Given the description of an element on the screen output the (x, y) to click on. 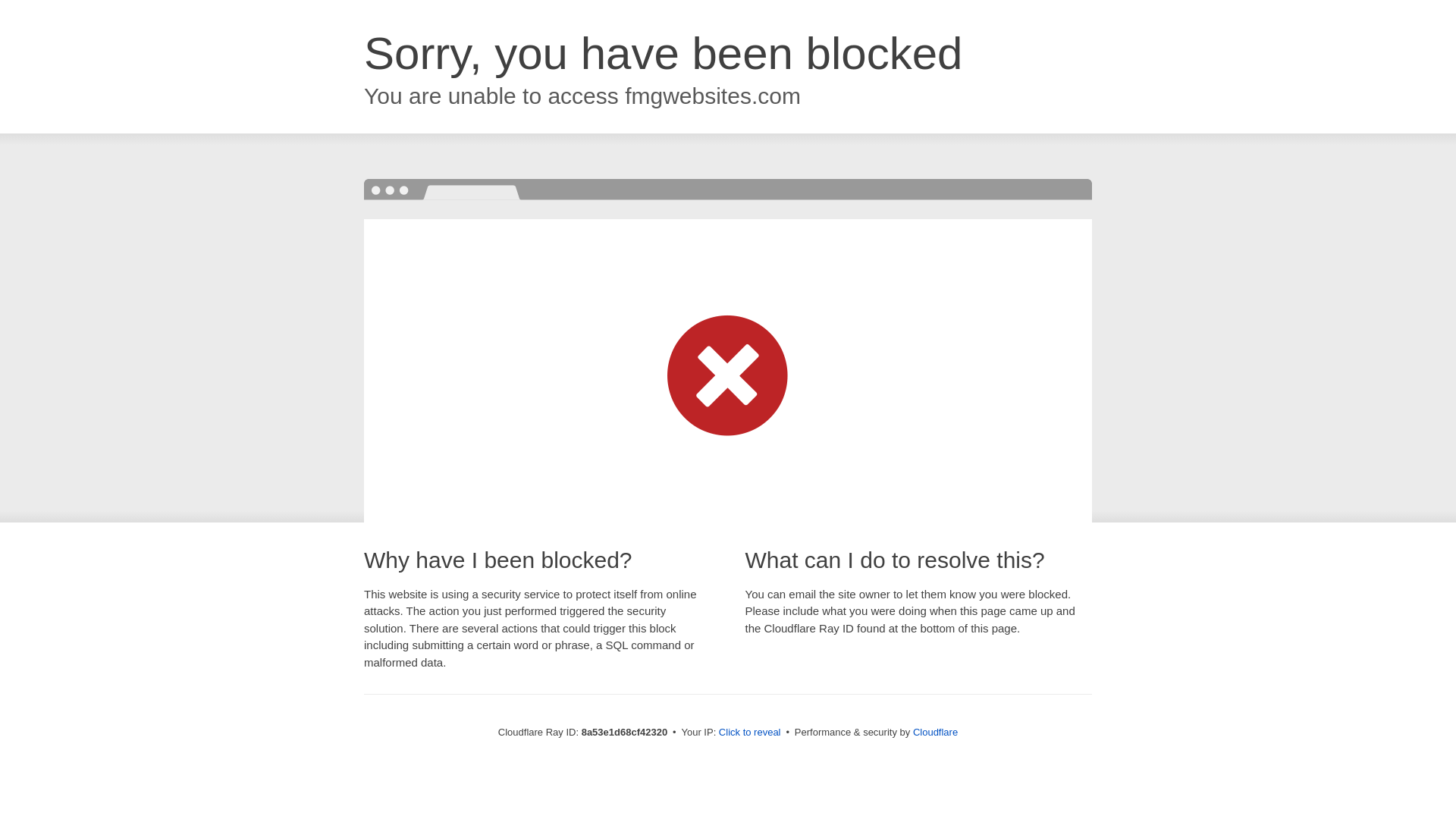
Cloudflare (935, 731)
Click to reveal (749, 732)
